Given the description of an element on the screen output the (x, y) to click on. 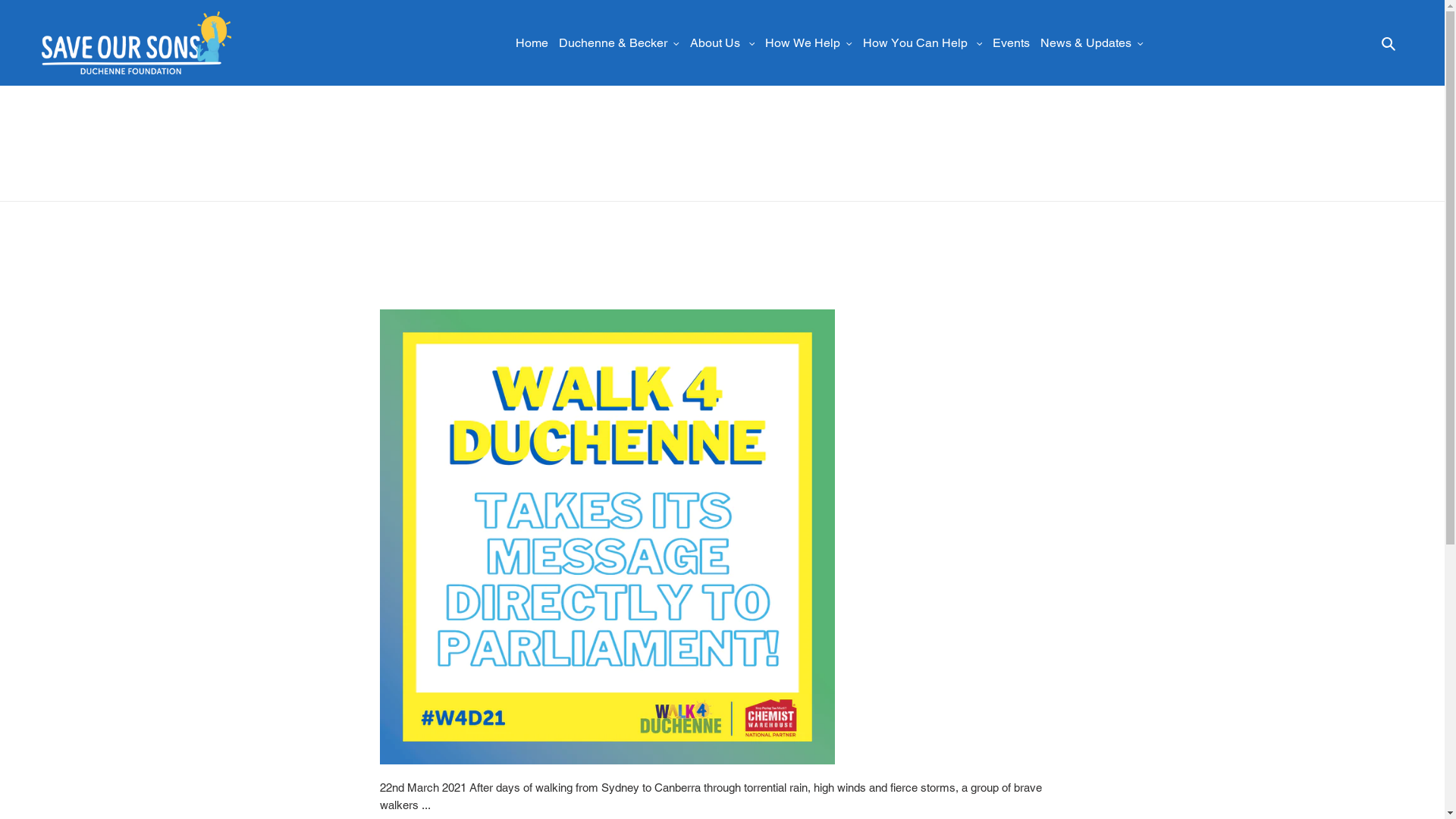
Duchenne & Becker Element type: text (619, 43)
Home Element type: text (531, 43)
Events Element type: text (1010, 43)
Search Element type: text (1389, 42)
About Us Element type: text (722, 43)
How You Can Help Element type: text (922, 43)
Walk 4 Duchenne Takes Its Message Directly to Parliament Element type: text (650, 254)
News & Updates Element type: text (1091, 43)
How We Help Element type: text (808, 43)
